Given the description of an element on the screen output the (x, y) to click on. 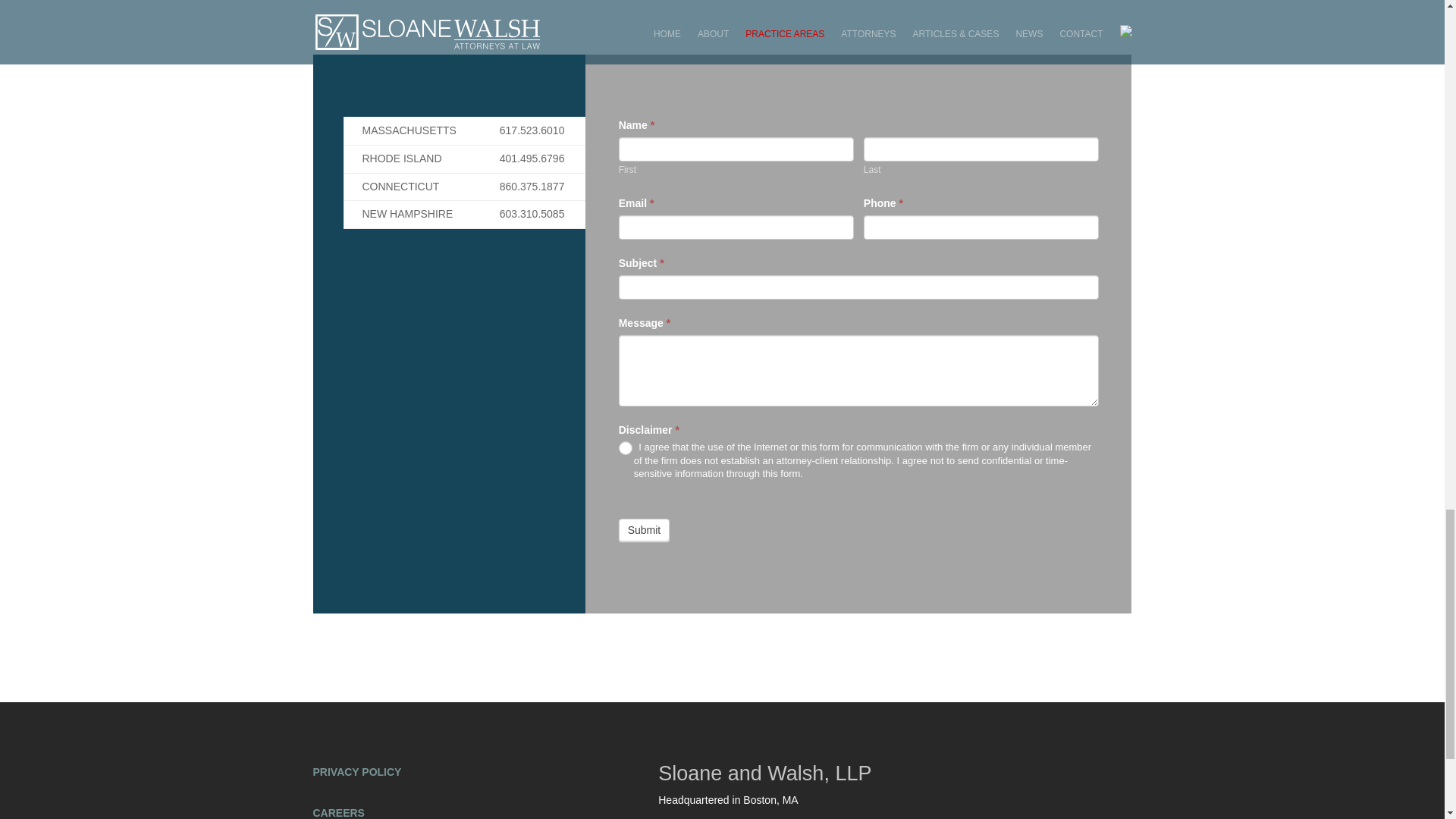
PRIVACY POLICY (357, 771)
Submit (643, 529)
CAREERS (338, 812)
